Given the description of an element on the screen output the (x, y) to click on. 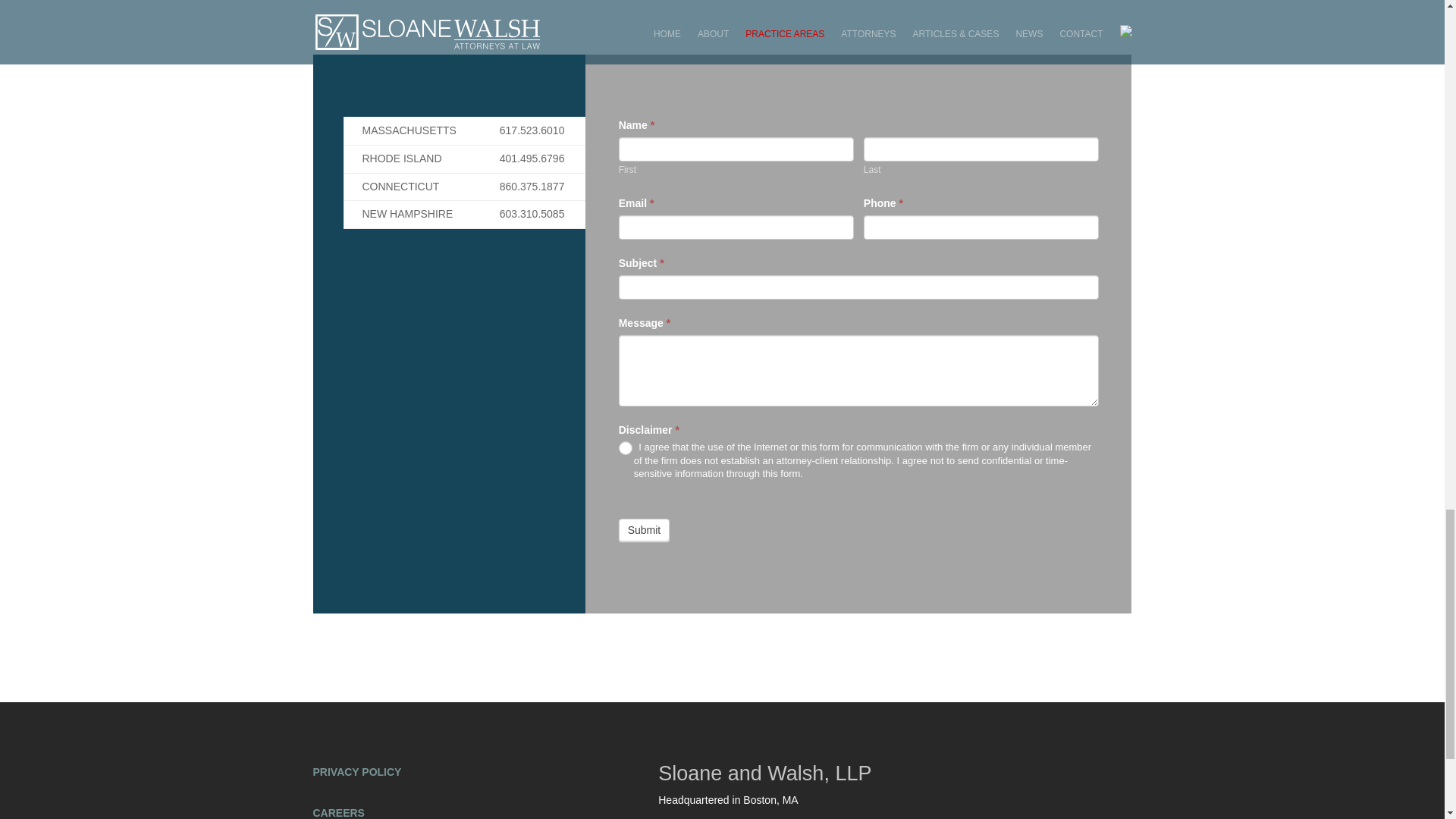
PRIVACY POLICY (357, 771)
Submit (643, 529)
CAREERS (338, 812)
